Given the description of an element on the screen output the (x, y) to click on. 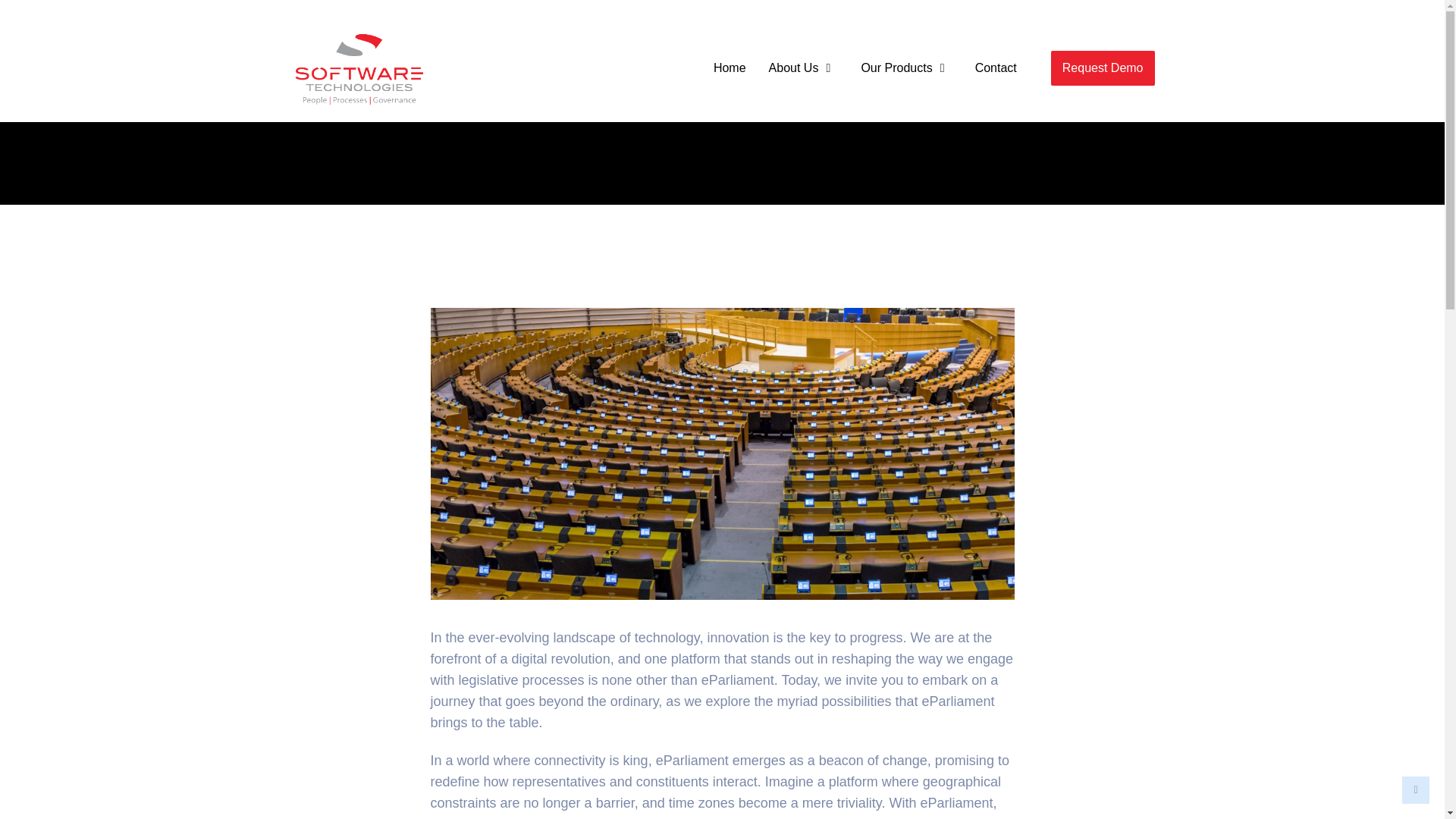
Home (729, 68)
Request Demo (1102, 67)
About Us (803, 68)
Contact (995, 68)
Our Products (905, 68)
eParliament (737, 679)
